Given the description of an element on the screen output the (x, y) to click on. 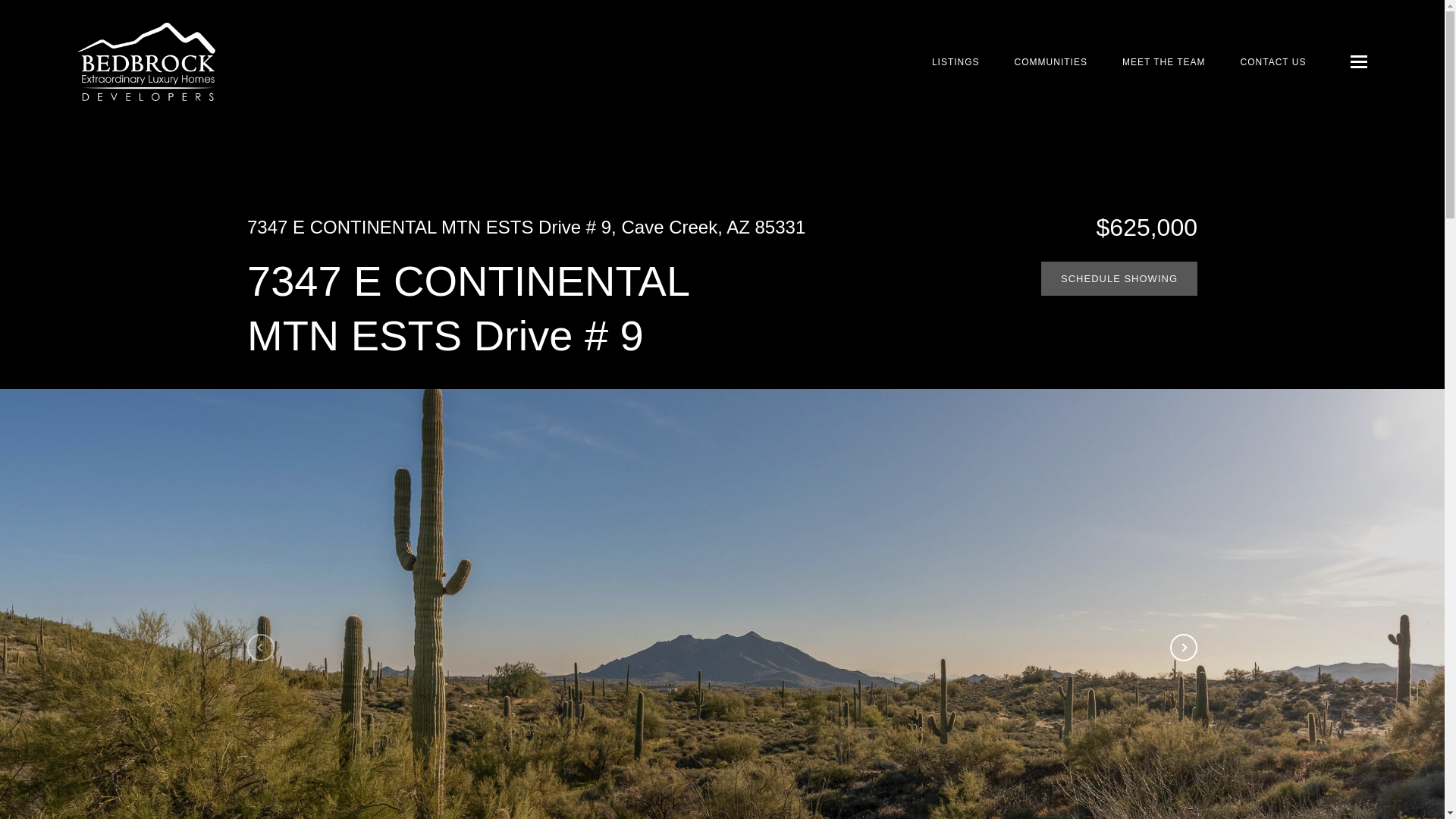
LISTINGS (955, 62)
SCHEDULE SHOWING (1118, 278)
MEET THE TEAM (1163, 62)
CONTACT US (1273, 62)
COMMUNITIES (1050, 62)
